Given the description of an element on the screen output the (x, y) to click on. 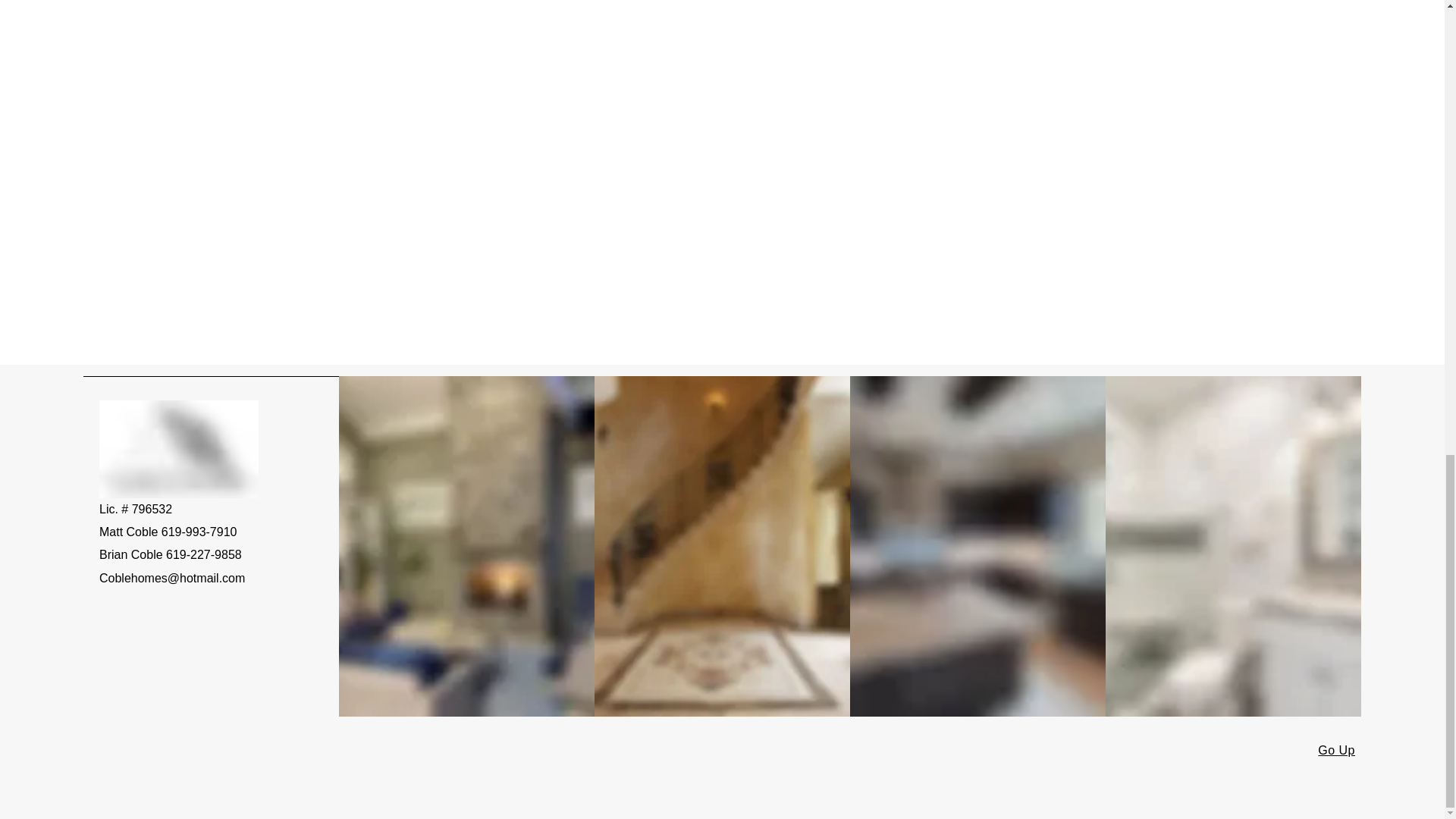
Go Up (1336, 749)
